Given the description of an element on the screen output the (x, y) to click on. 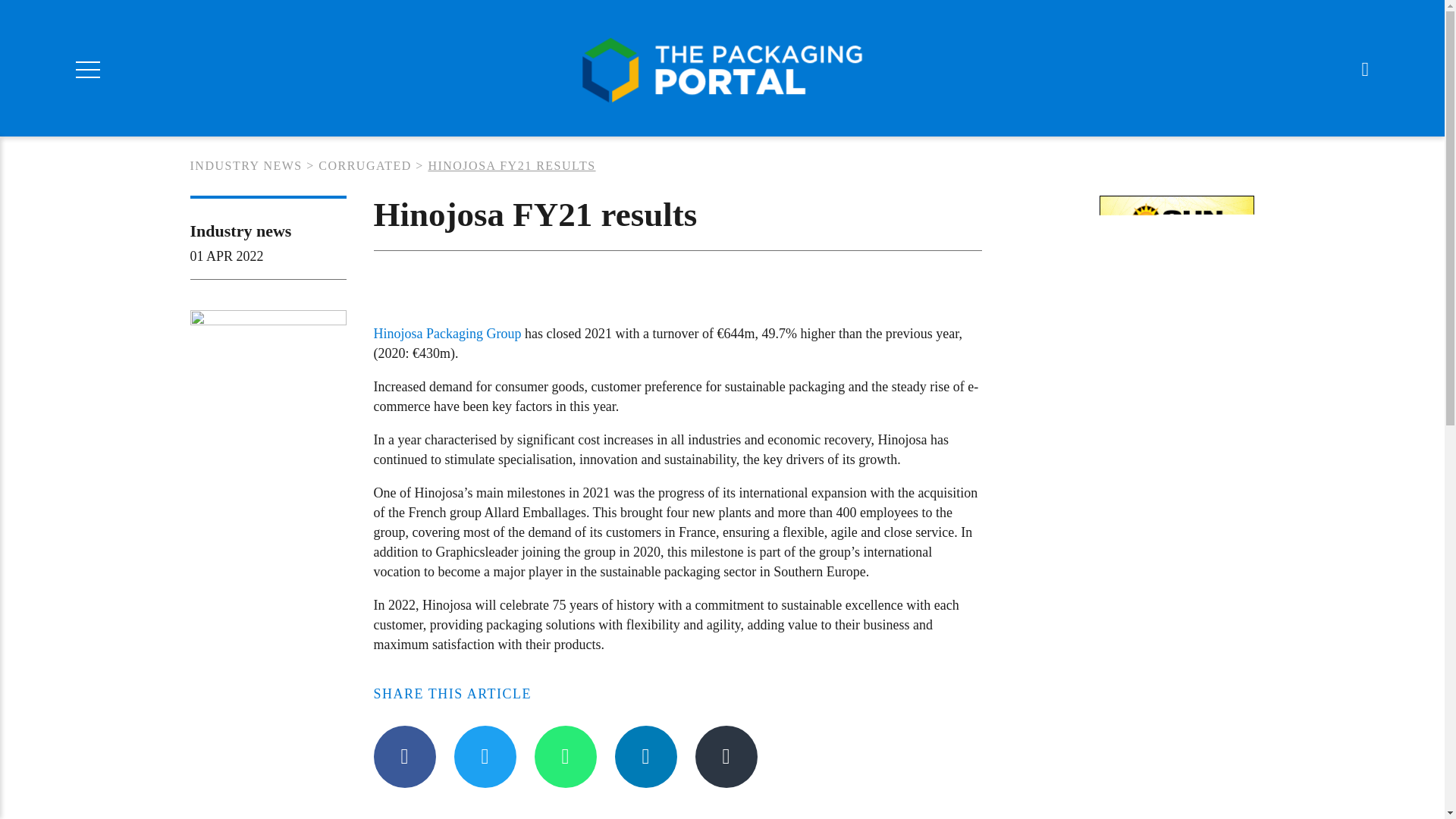
CORRUGATED (365, 164)
Share on LinkedIn (645, 756)
INDUSTRY NEWS (245, 164)
Share on Twitter (483, 756)
Go to Industry news. (245, 164)
Hinojosa Packaging Group (446, 333)
Go to the Corrugated Categories archives. (365, 164)
Share on Facebook (403, 756)
Share on Whatsapp (564, 756)
Send link to friend (725, 756)
